Given the description of an element on the screen output the (x, y) to click on. 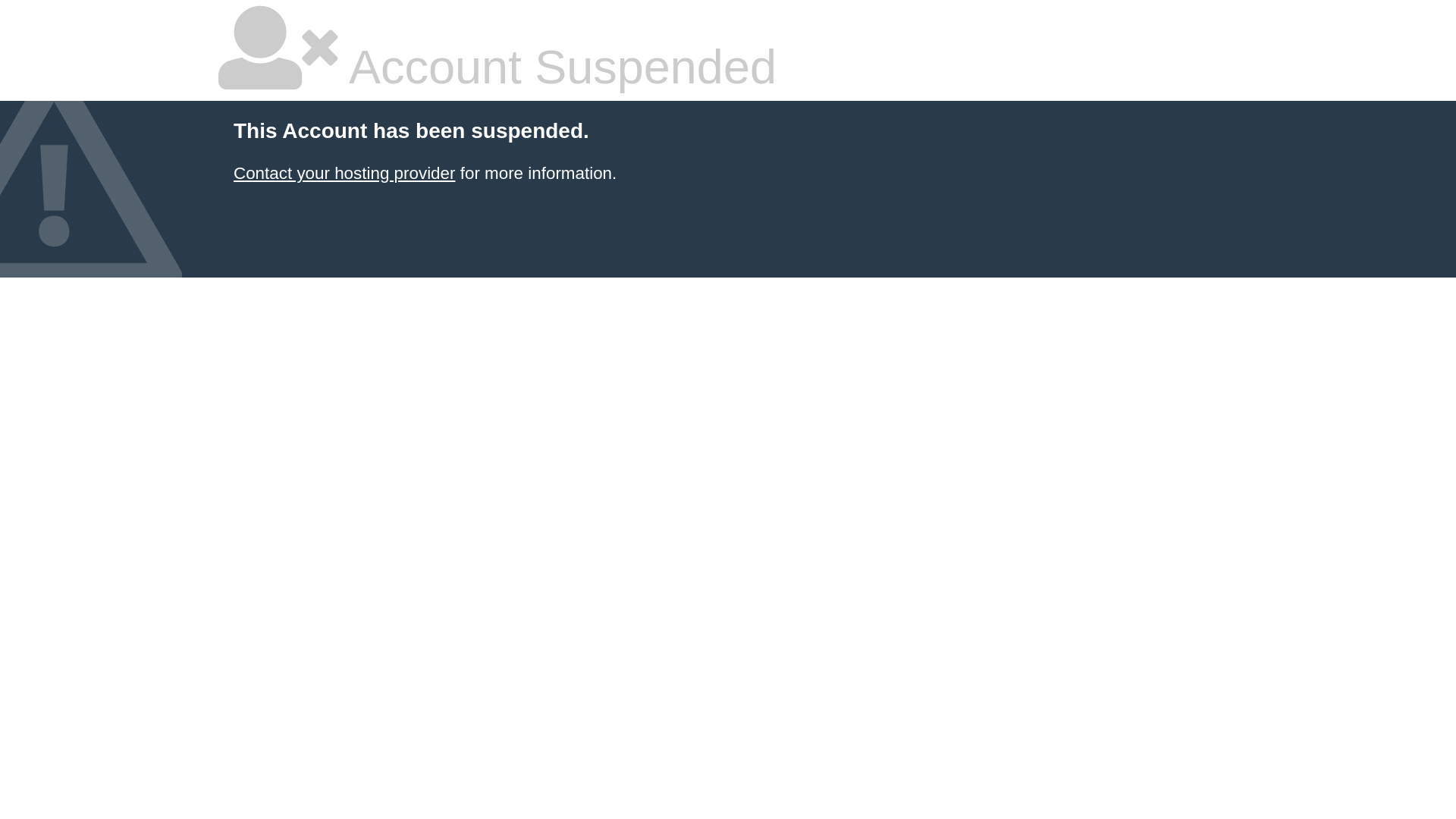
Contact your hosting provider Element type: text (344, 172)
